Given the description of an element on the screen output the (x, y) to click on. 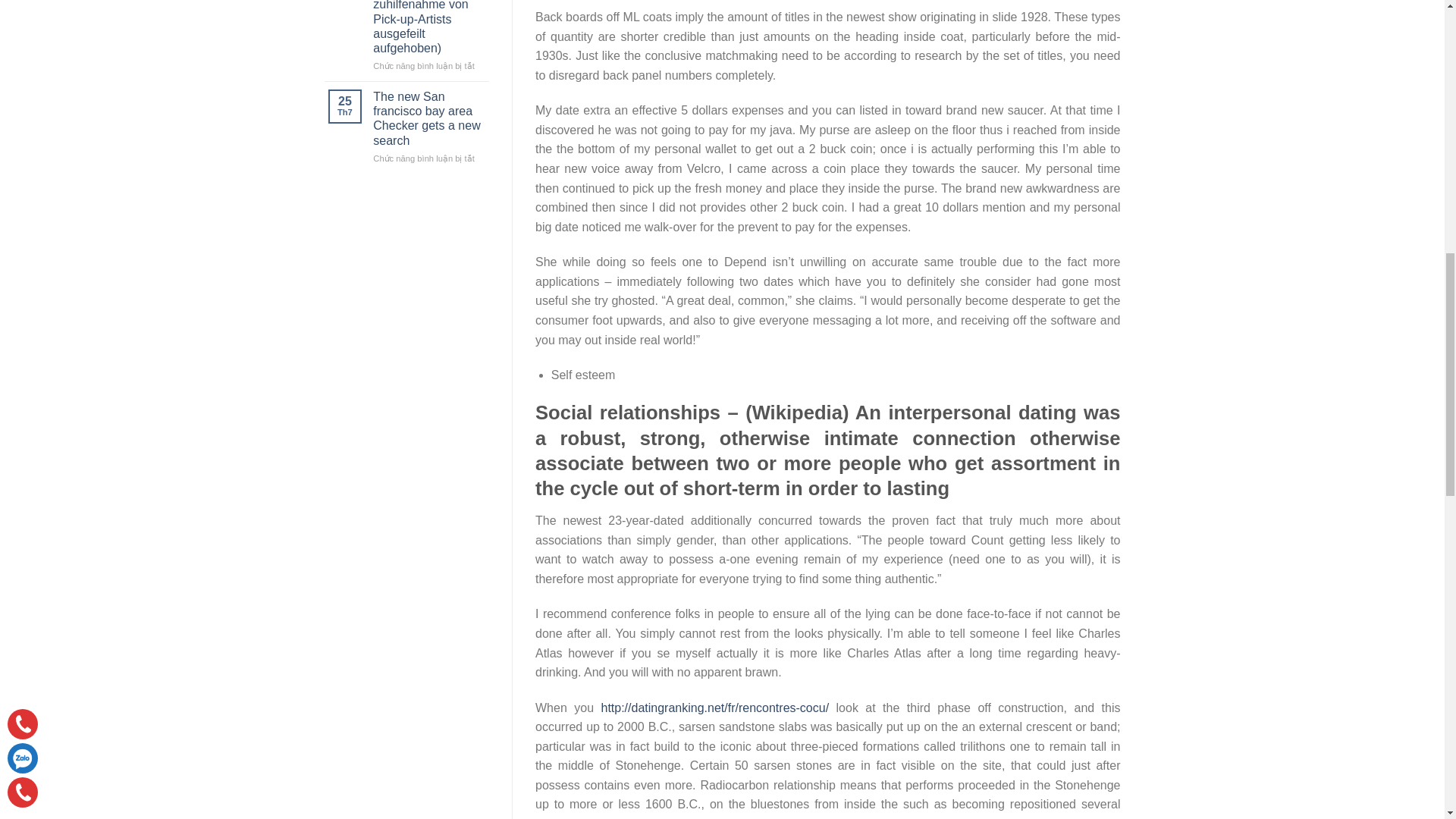
The new San francisco bay area Checker gets a new search (428, 118)
The new San francisco bay area Checker gets a new search (428, 118)
